Given the description of an element on the screen output the (x, y) to click on. 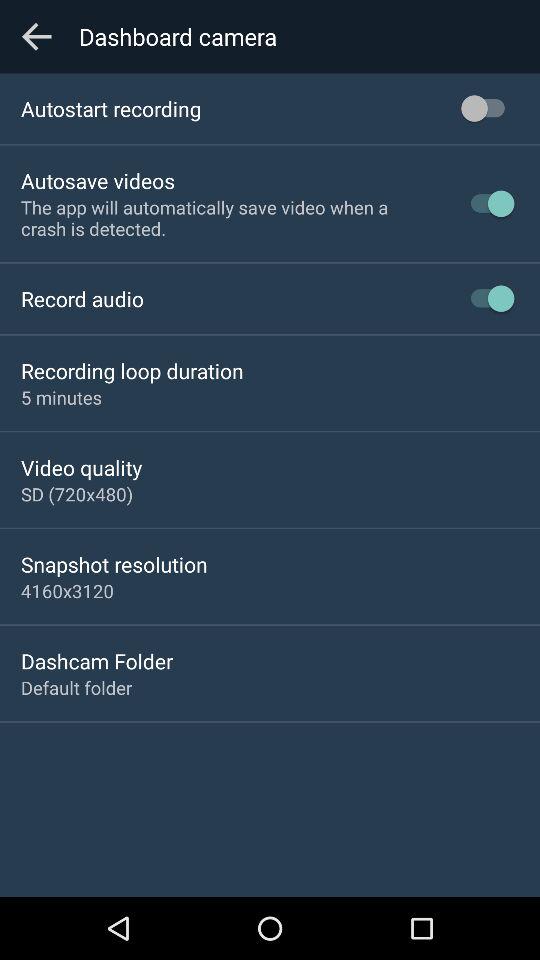
swipe to record audio icon (82, 298)
